Given the description of an element on the screen output the (x, y) to click on. 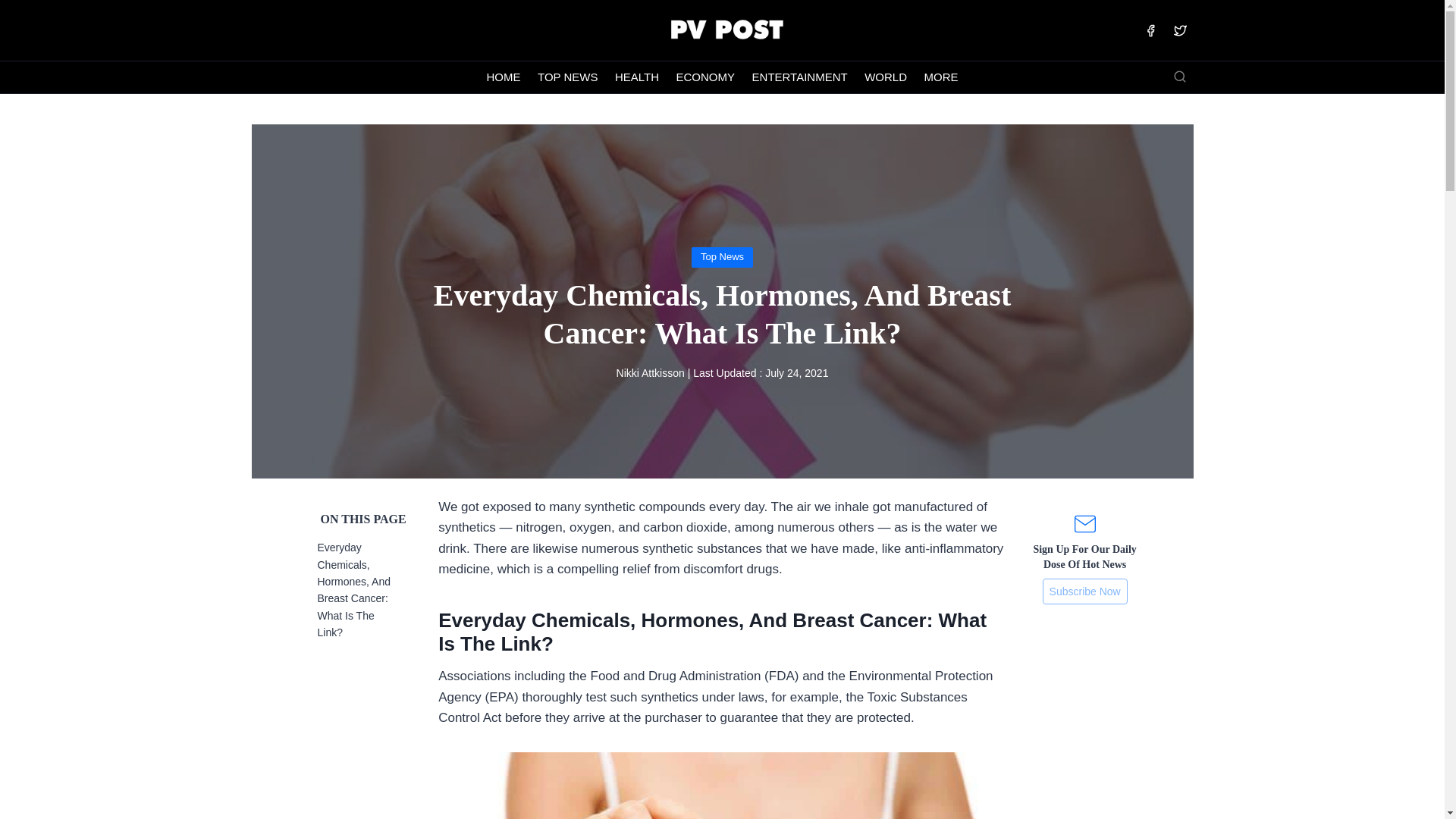
Subscribe Now (1084, 591)
ENTERTAINMENT (799, 77)
MORE (940, 77)
ECONOMY (704, 77)
HOME (503, 77)
TOP NEWS (568, 77)
HEALTH (637, 77)
Top News (722, 256)
WORLD (885, 77)
